Given the description of an element on the screen output the (x, y) to click on. 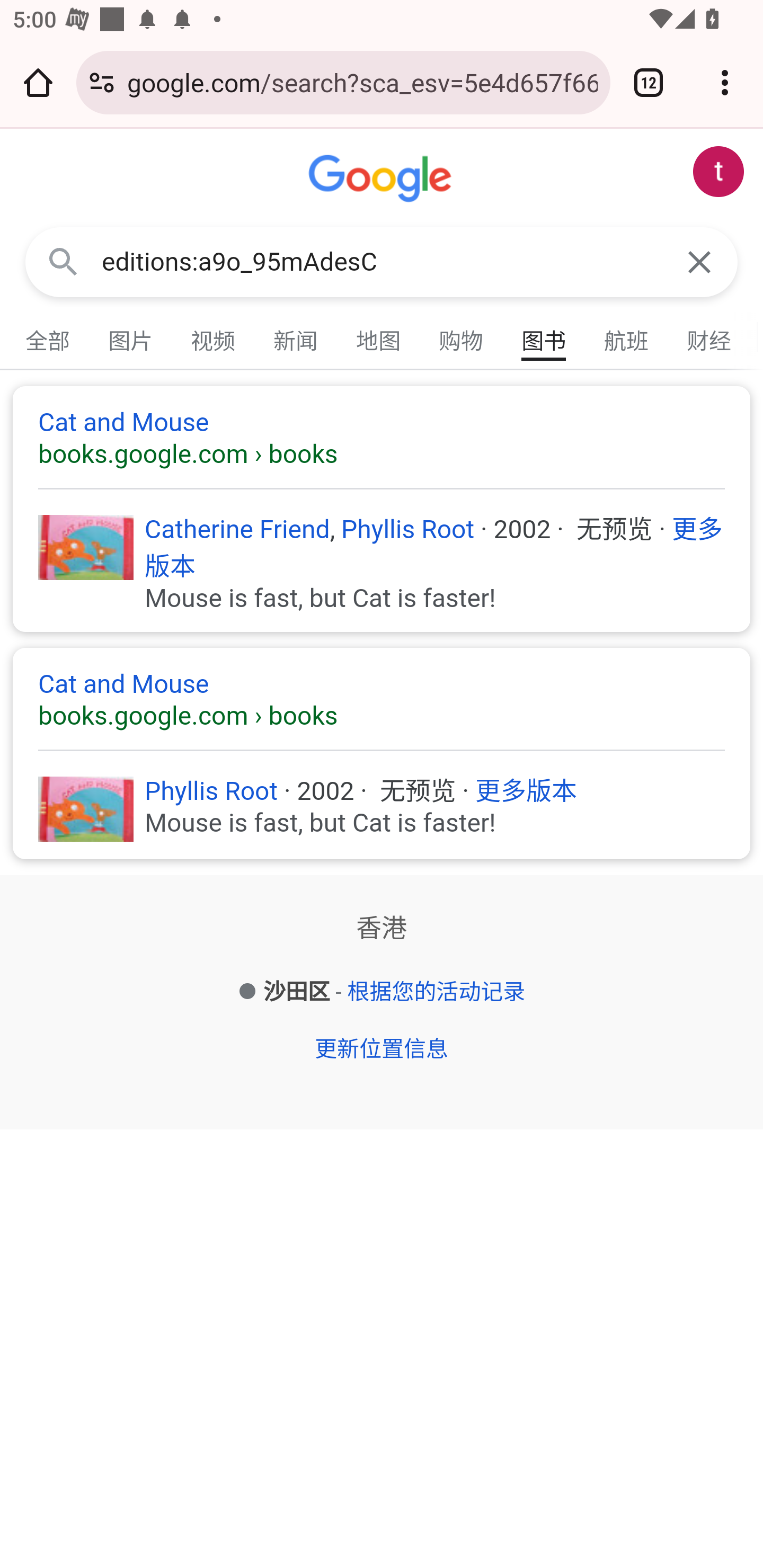
Open the home page (38, 82)
Connection is secure (101, 82)
Switch or close tabs (648, 82)
Customize and control Google Chrome (724, 82)
Google (381, 179)
Google 账号： test appium (testappium002@gmail.com) (718, 171)
Google 搜索 (63, 262)
清除搜索 (699, 262)
editions:a9o_95mAdesC (381, 261)
全部 (48, 336)
图片 (131, 336)
视频 (213, 336)
新闻 (296, 336)
地图 (379, 336)
购物 (461, 336)
航班 (627, 336)
财经 (709, 336)
Cat and Mouse (381, 437)
Catherine Friend (237, 528)
更多版本 (433, 546)
Phyllis Root (407, 528)
Cat and Mouse (381, 699)
Phyllis Root (211, 791)
更多版本 (526, 791)
沙田区  - 根据您的活动记录 (381, 992)
更新位置信息 (380, 1049)
